Given the description of an element on the screen output the (x, y) to click on. 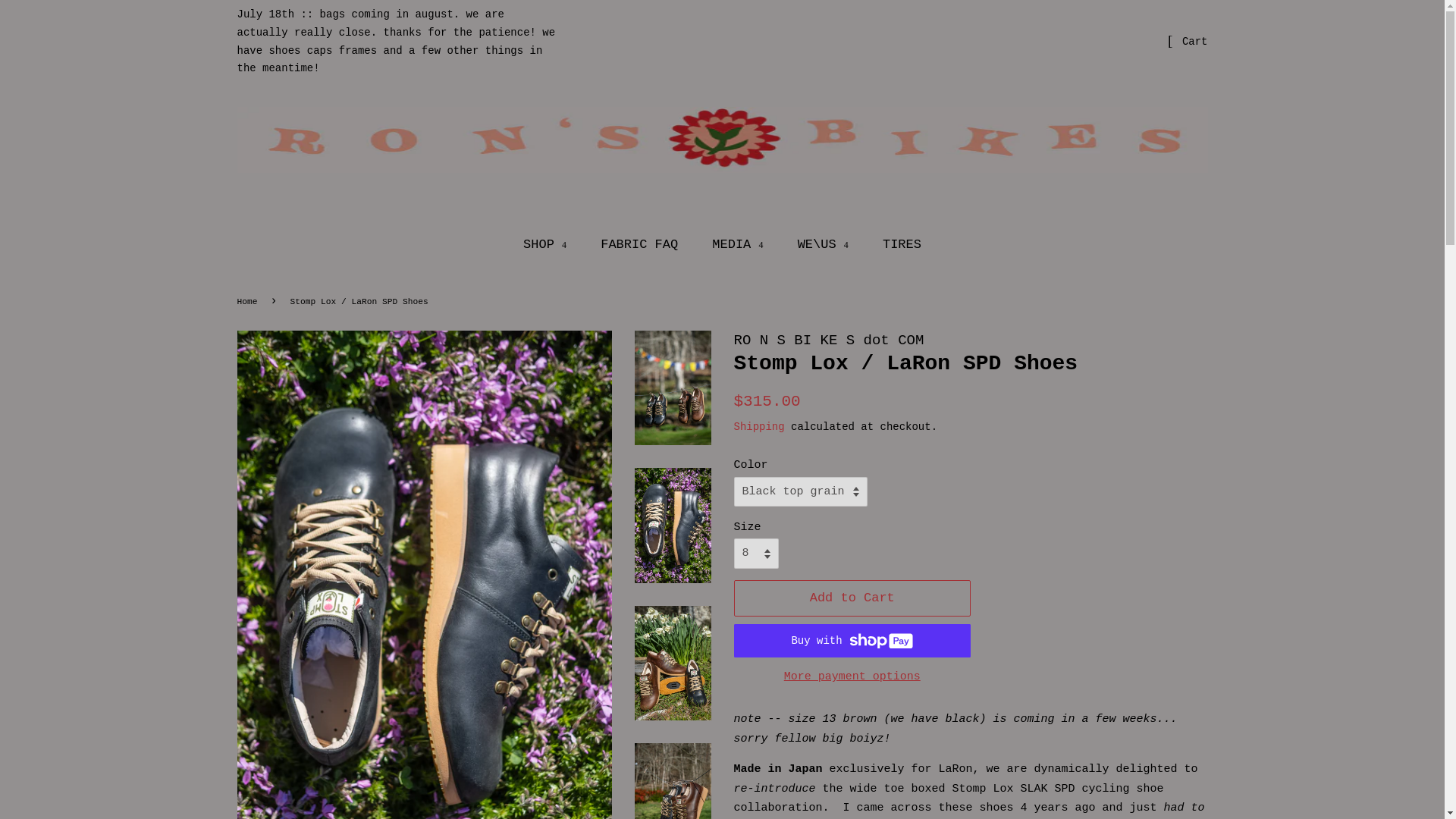
Home (247, 301)
Cart (1195, 42)
MEDIA (738, 245)
FABRIC FAQ (641, 245)
SHOP (551, 245)
TIRES (895, 245)
Back to the frontpage (247, 301)
